Given the description of an element on the screen output the (x, y) to click on. 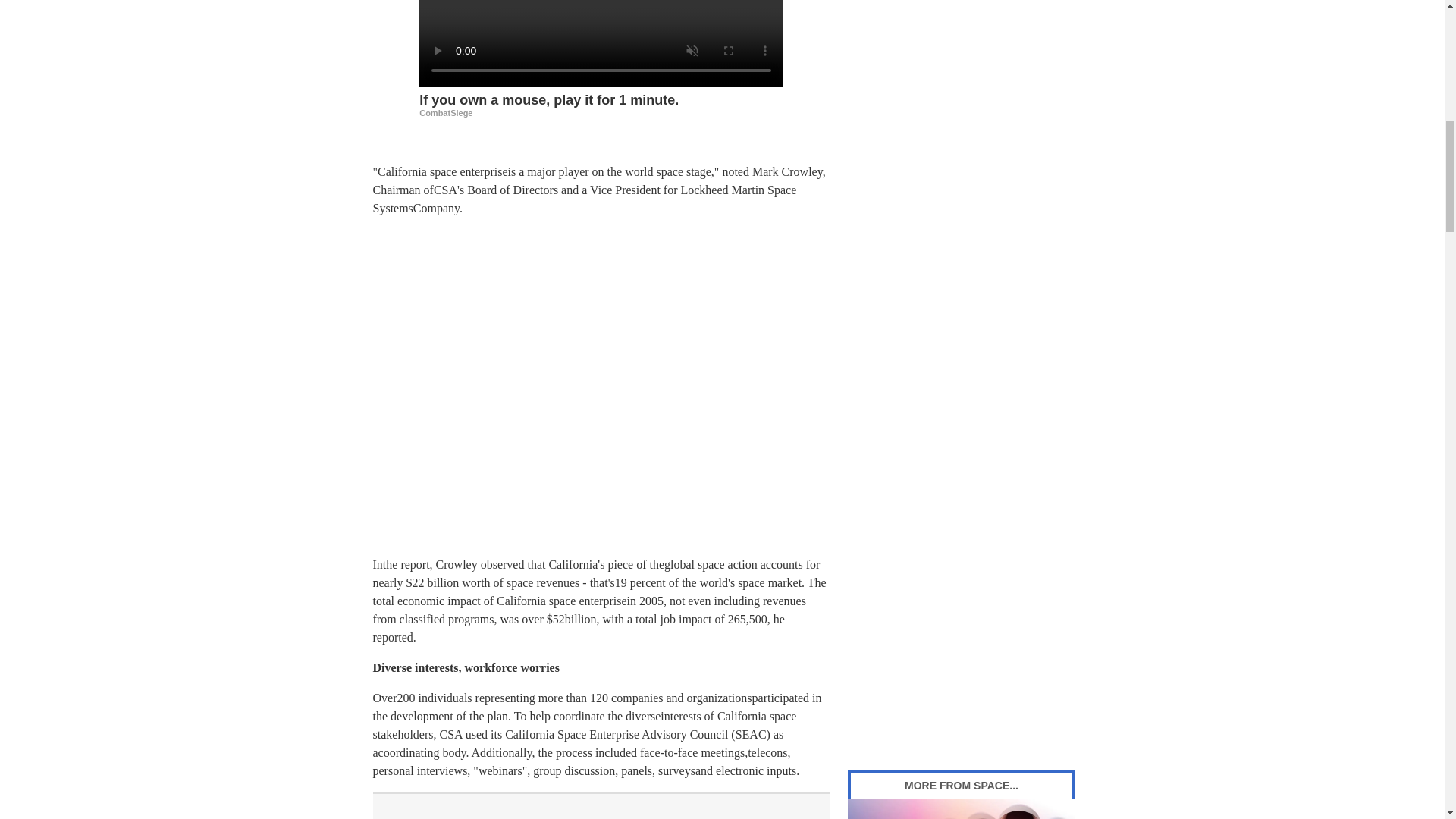
If you own a mouse, play it for 1 minute. (601, 103)
If you own a mouse, play it for 1 minute. (601, 43)
